Given the description of an element on the screen output the (x, y) to click on. 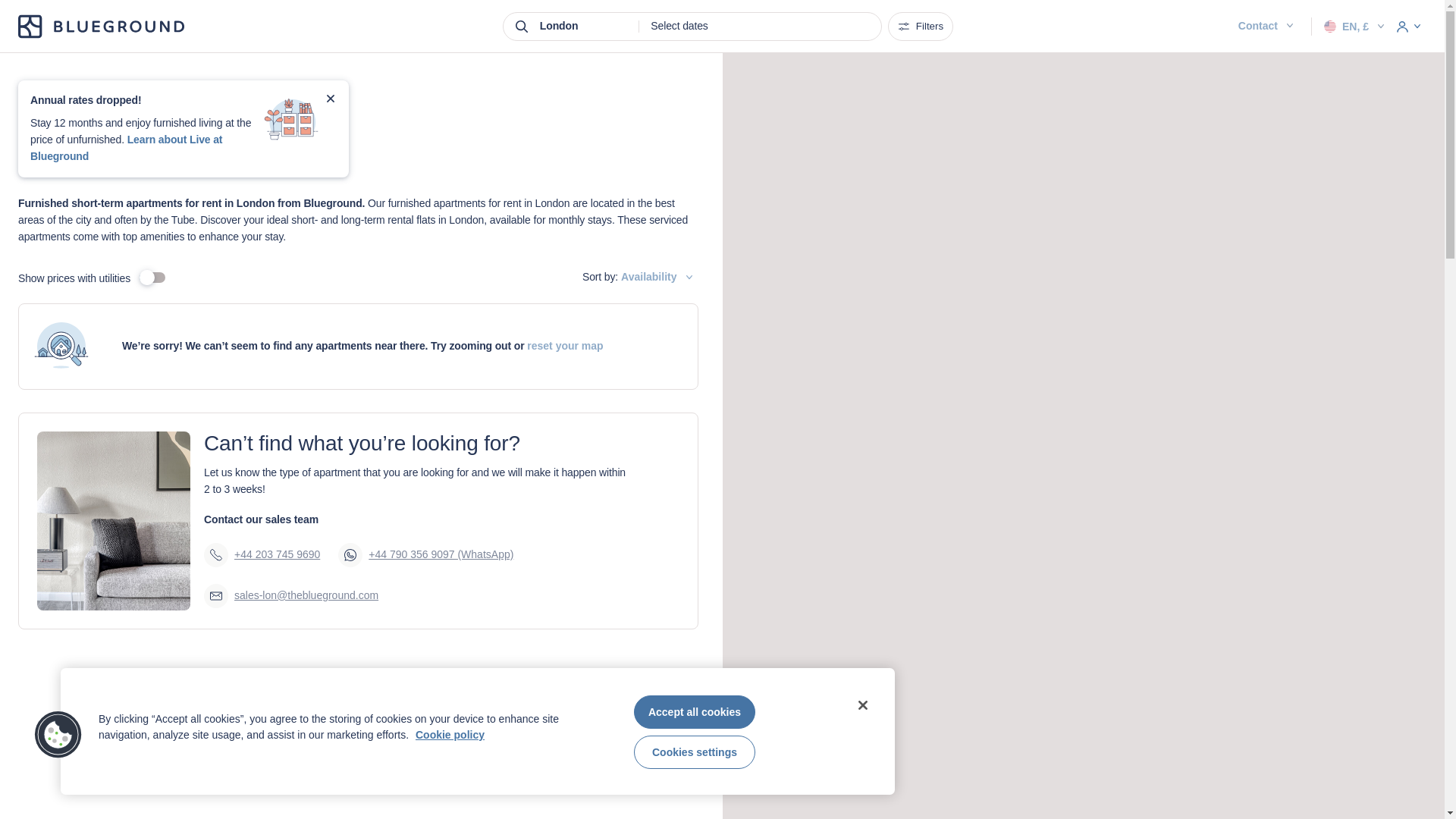
reset your map (564, 346)
Availability (659, 277)
Filters (920, 26)
Cookies Button (57, 735)
Contact (1268, 26)
Learn about Live at Blueground (126, 147)
